Given the description of an element on the screen output the (x, y) to click on. 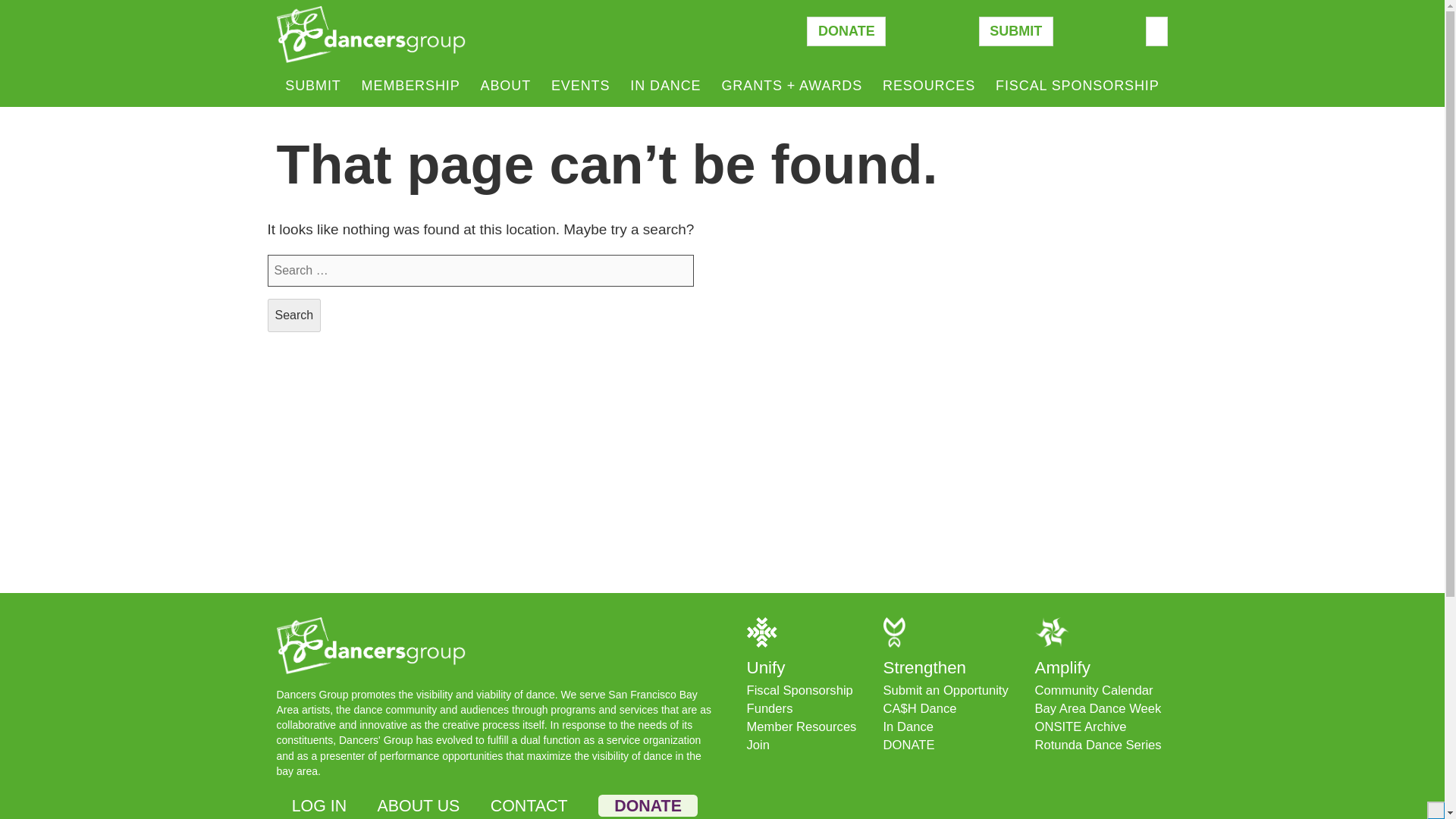
Search (293, 315)
Search (293, 315)
